Given the description of an element on the screen output the (x, y) to click on. 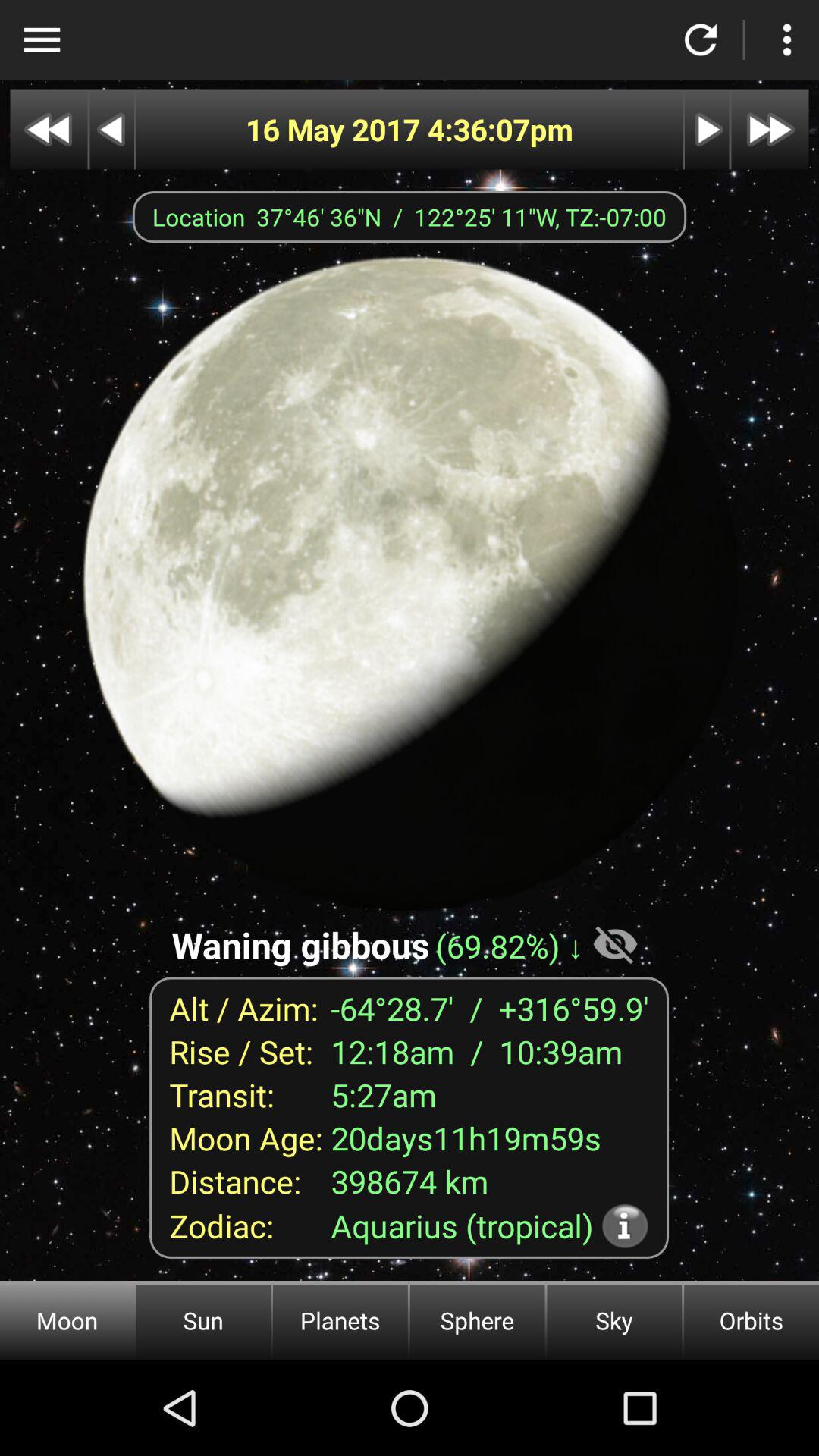
next image (706, 129)
